Given the description of an element on the screen output the (x, y) to click on. 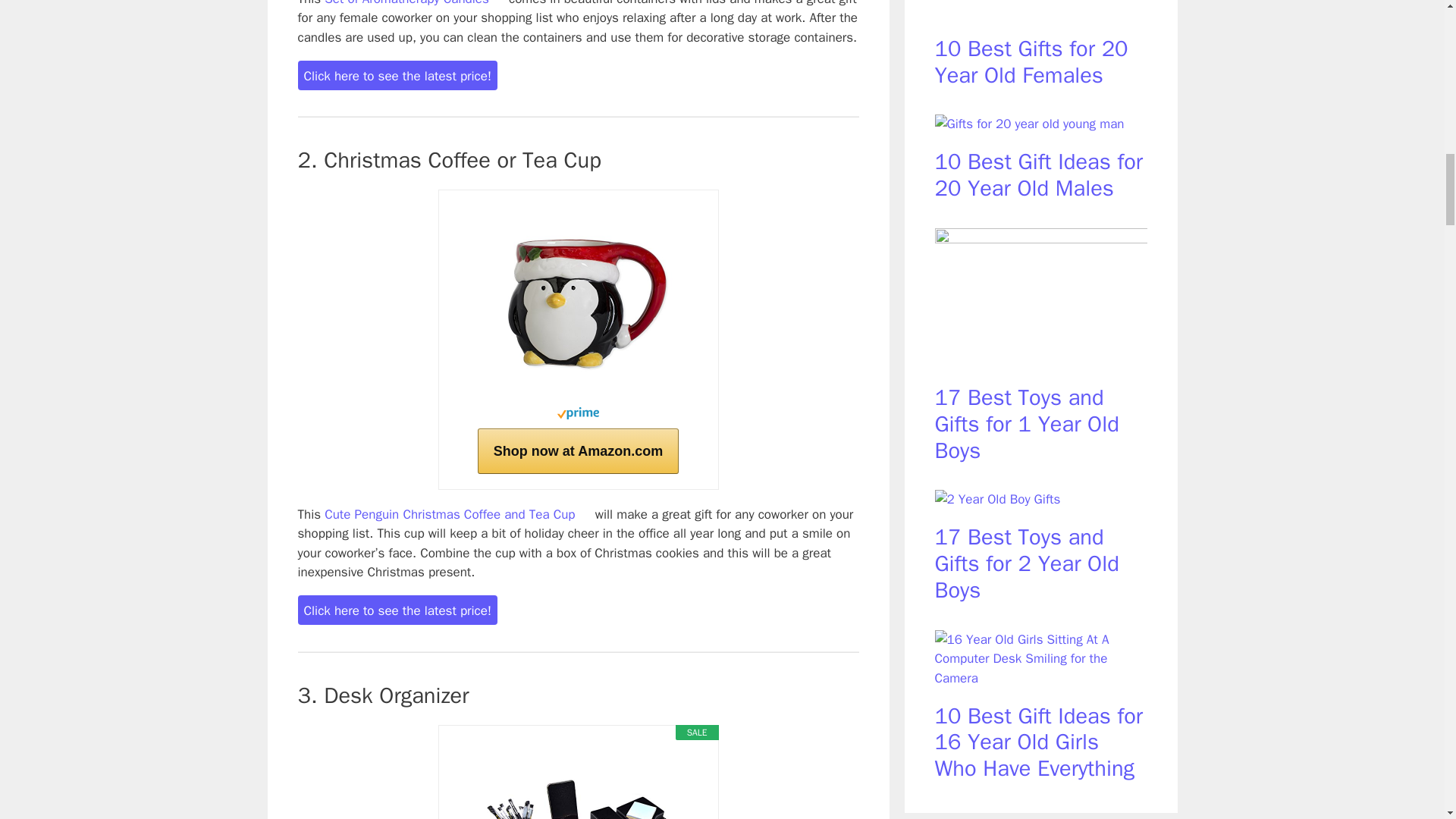
Set of Aromatherapy Candles (499, 1)
Set of Aromatherapy Candles (406, 3)
Penguin Holiday Character 12... (577, 299)
